Given the description of an element on the screen output the (x, y) to click on. 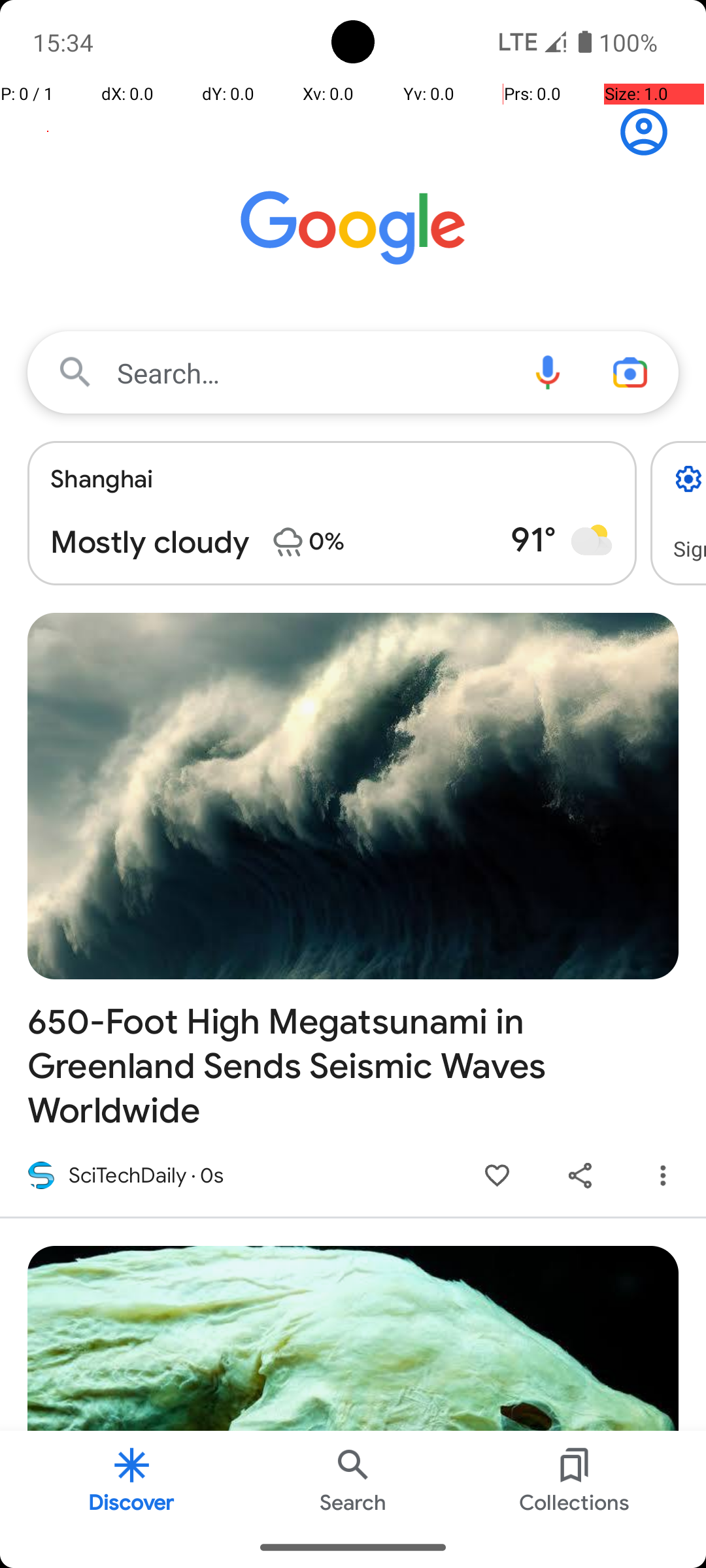
Sign in Element type: android.widget.FrameLayout (650, 131)
Collections Button Element type: android.widget.FrameLayout (574, 1478)
Like Element type: android.view.ViewGroup (497, 1175)
Share 650-Foot High Megatsunami in Greenland Sends Seismic Waves Worldwide Element type: android.view.ViewGroup (580, 1175)
Chance of precipitation Element type: android.widget.ImageView (287, 541)
